Given the description of an element on the screen output the (x, y) to click on. 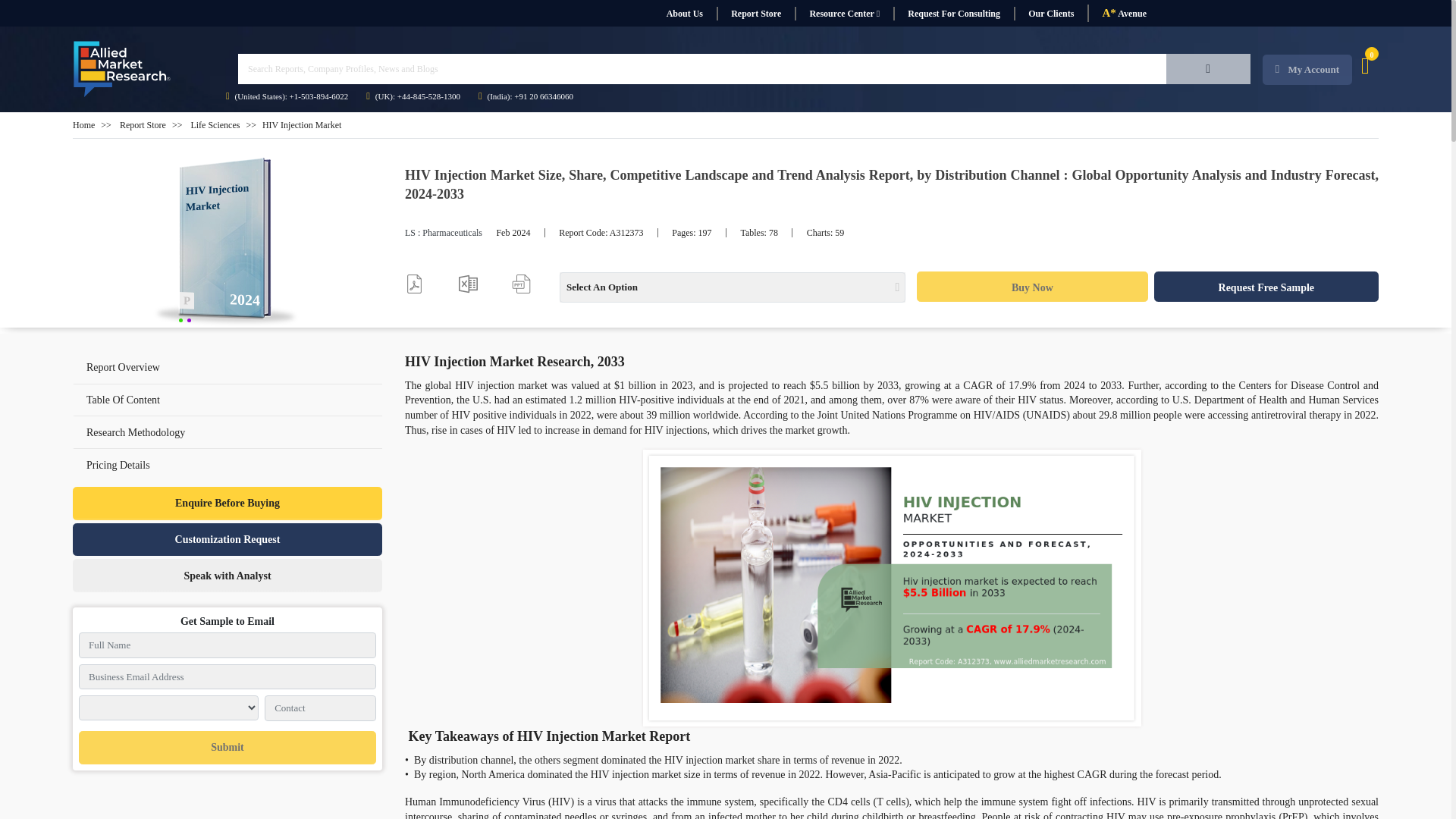
Home (83, 124)
Life Sciences (215, 124)
Table Of Content (122, 399)
Allied Market Research (121, 68)
Buy Now (1032, 286)
About Us (684, 13)
Request Free Sample (1266, 286)
Customization Request (226, 539)
Speak with Analyst (226, 575)
Buy Now (1032, 286)
